Given the description of an element on the screen output the (x, y) to click on. 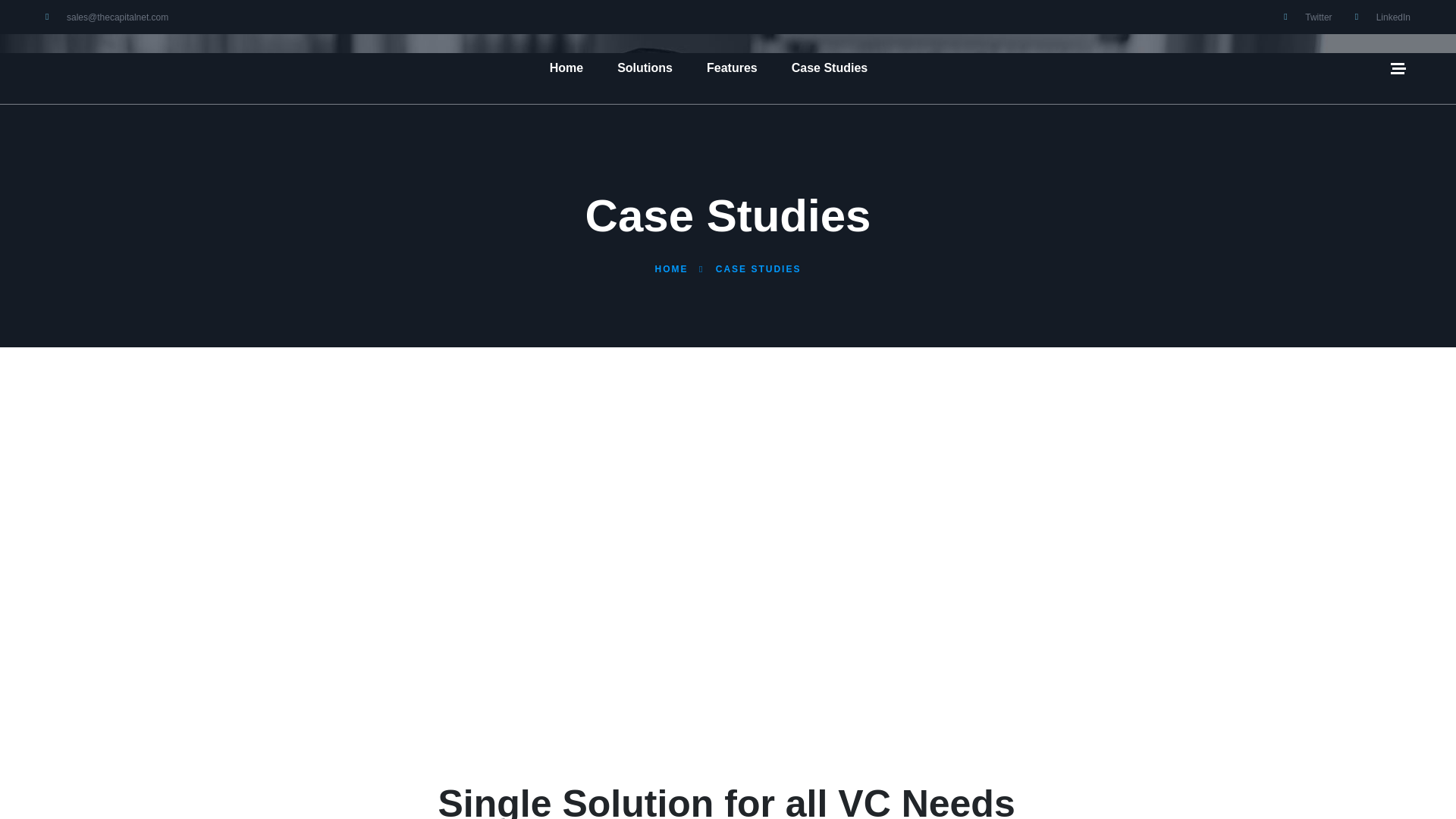
LinkedIn (1382, 16)
CASE STUDIES (759, 268)
HOME (671, 268)
Case Studies (829, 69)
Twitter (1308, 16)
